Given the description of an element on the screen output the (x, y) to click on. 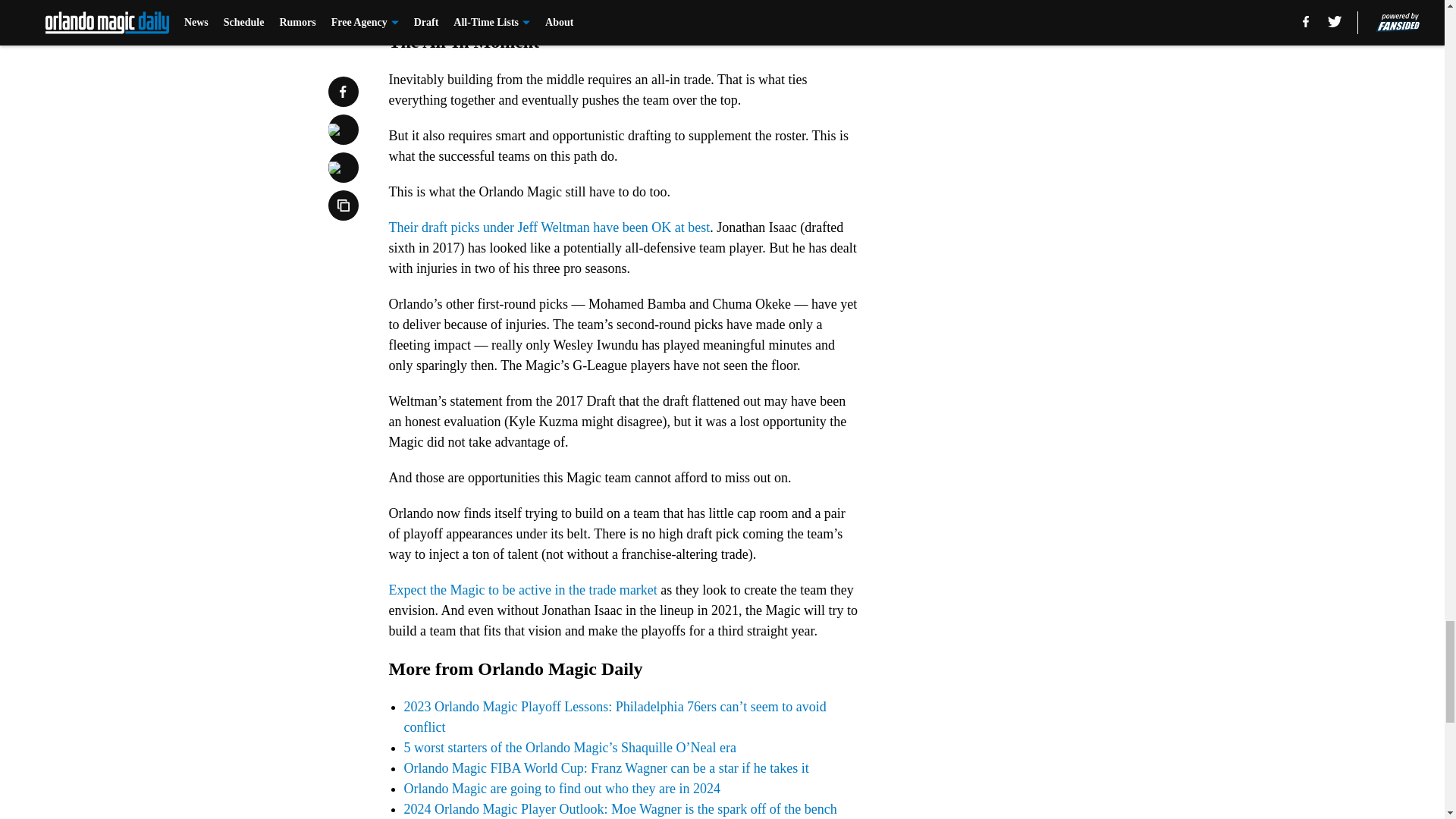
Their draft picks under Jeff Weltman have been OK at best (549, 227)
Expect the Magic to be active in the trade market (522, 589)
Orlando Magic are going to find out who they are in 2024 (561, 788)
